Given the description of an element on the screen output the (x, y) to click on. 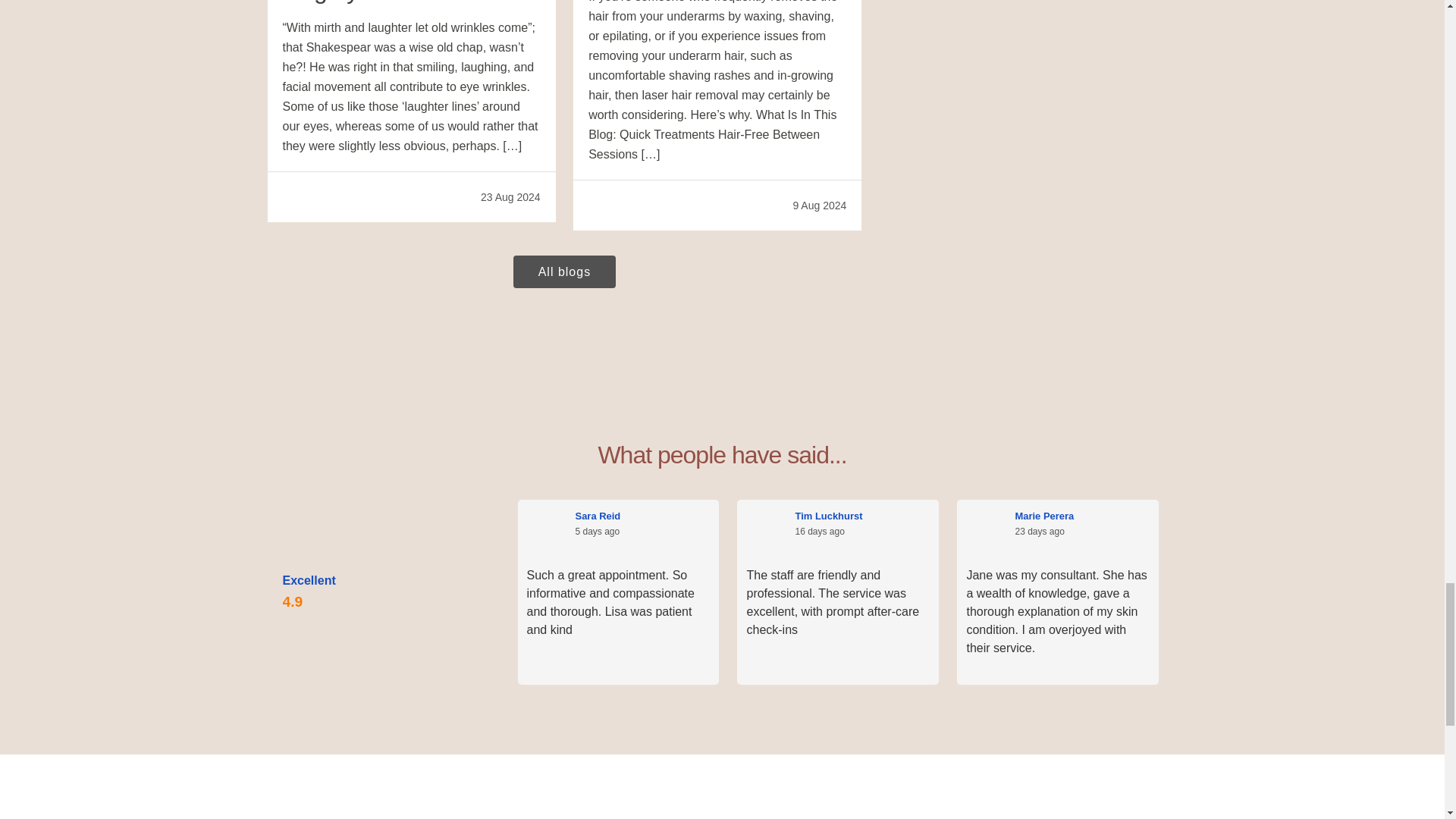
Tim Luckhurst (862, 515)
Sara Reid (642, 515)
Esther Piper (1302, 515)
Marie Perera (1082, 515)
